Given the description of an element on the screen output the (x, y) to click on. 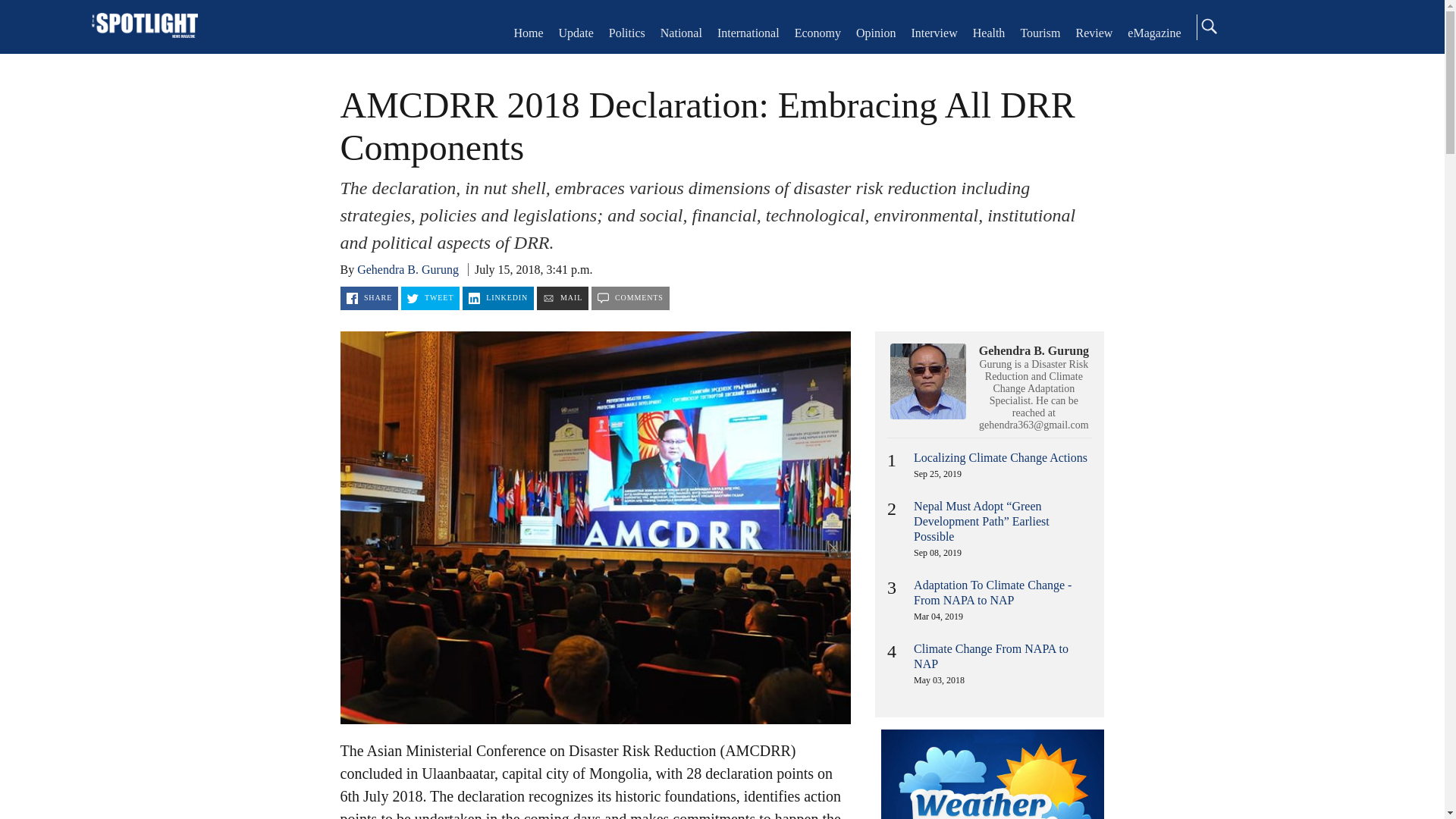
Home (144, 26)
Update (576, 32)
MAIL (563, 298)
National (681, 32)
Adaptation To Climate Change - From NAPA to NAP (992, 592)
Opinion (875, 32)
Politics (626, 32)
Climate Change From NAPA to NAP (991, 656)
Search (1208, 26)
SHARE (368, 298)
Localizing Climate Change Actions (1000, 457)
Health (989, 32)
eMagazine (1153, 32)
International (747, 32)
Gehendra B. Gurung (407, 269)
